Given the description of an element on the screen output the (x, y) to click on. 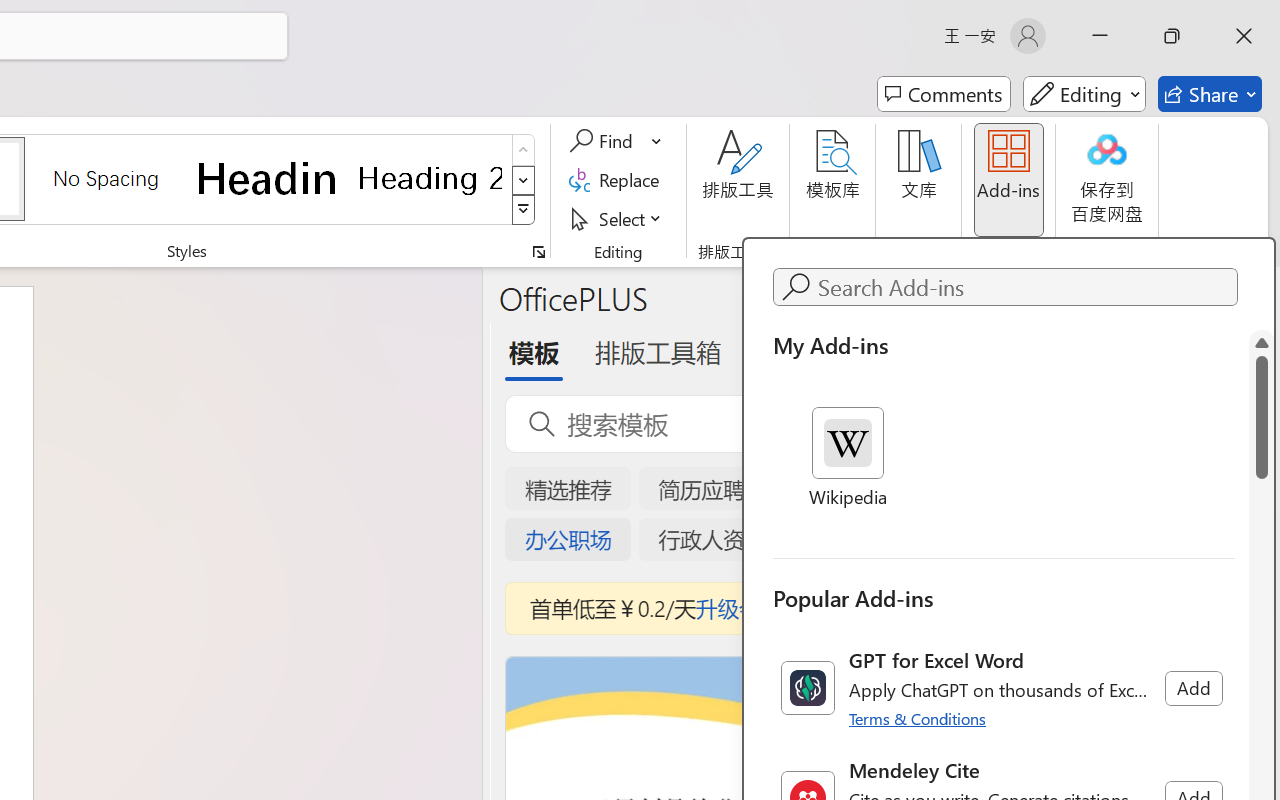
Styles (523, 209)
Comments (943, 94)
Replace... (617, 179)
Row Down (523, 180)
